Given the description of an element on the screen output the (x, y) to click on. 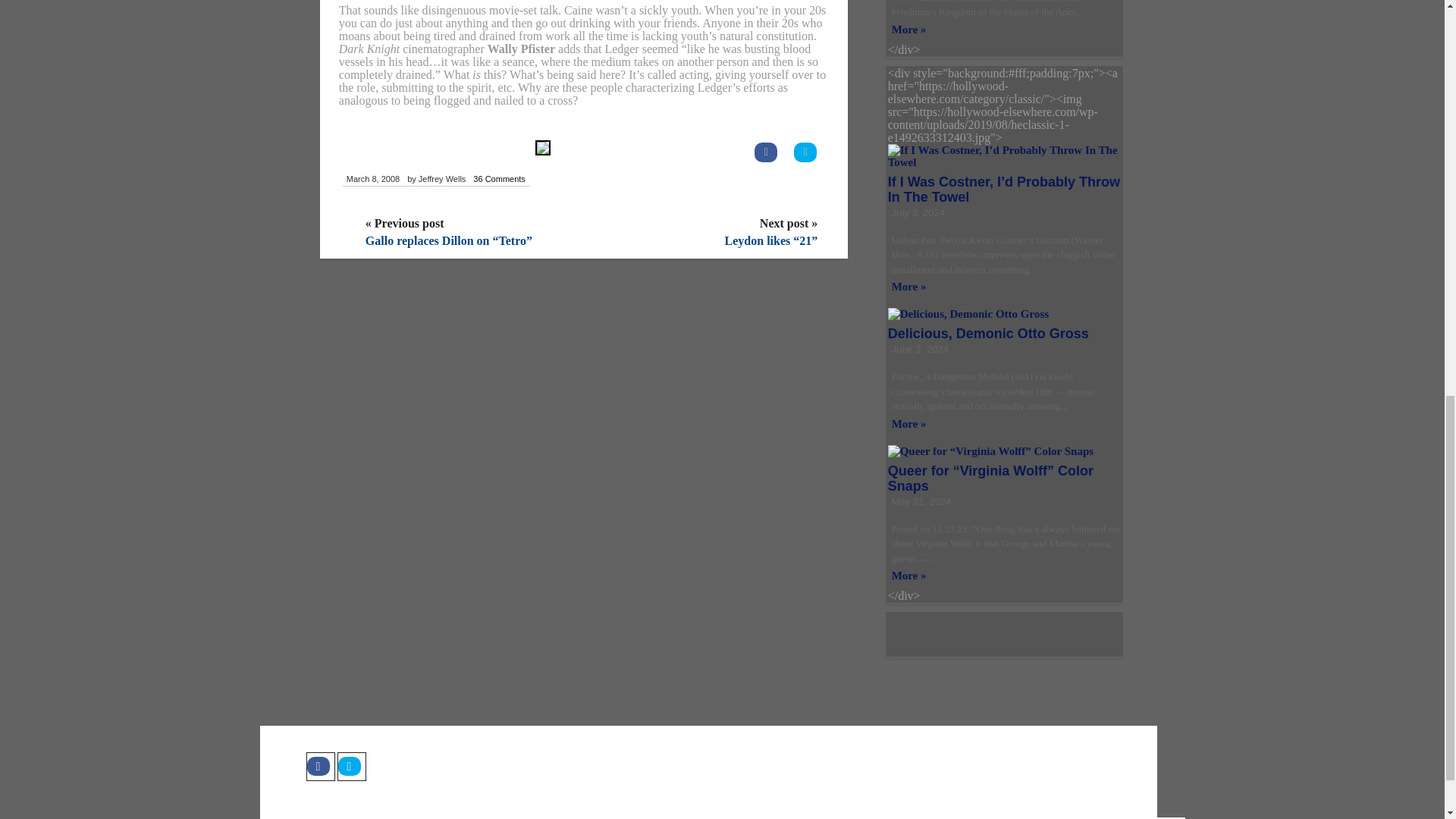
by Jeffrey Wells (435, 179)
Twitter (350, 766)
36 Comments (498, 179)
March 8, 2008 (372, 179)
Facebook (319, 766)
